Given the description of an element on the screen output the (x, y) to click on. 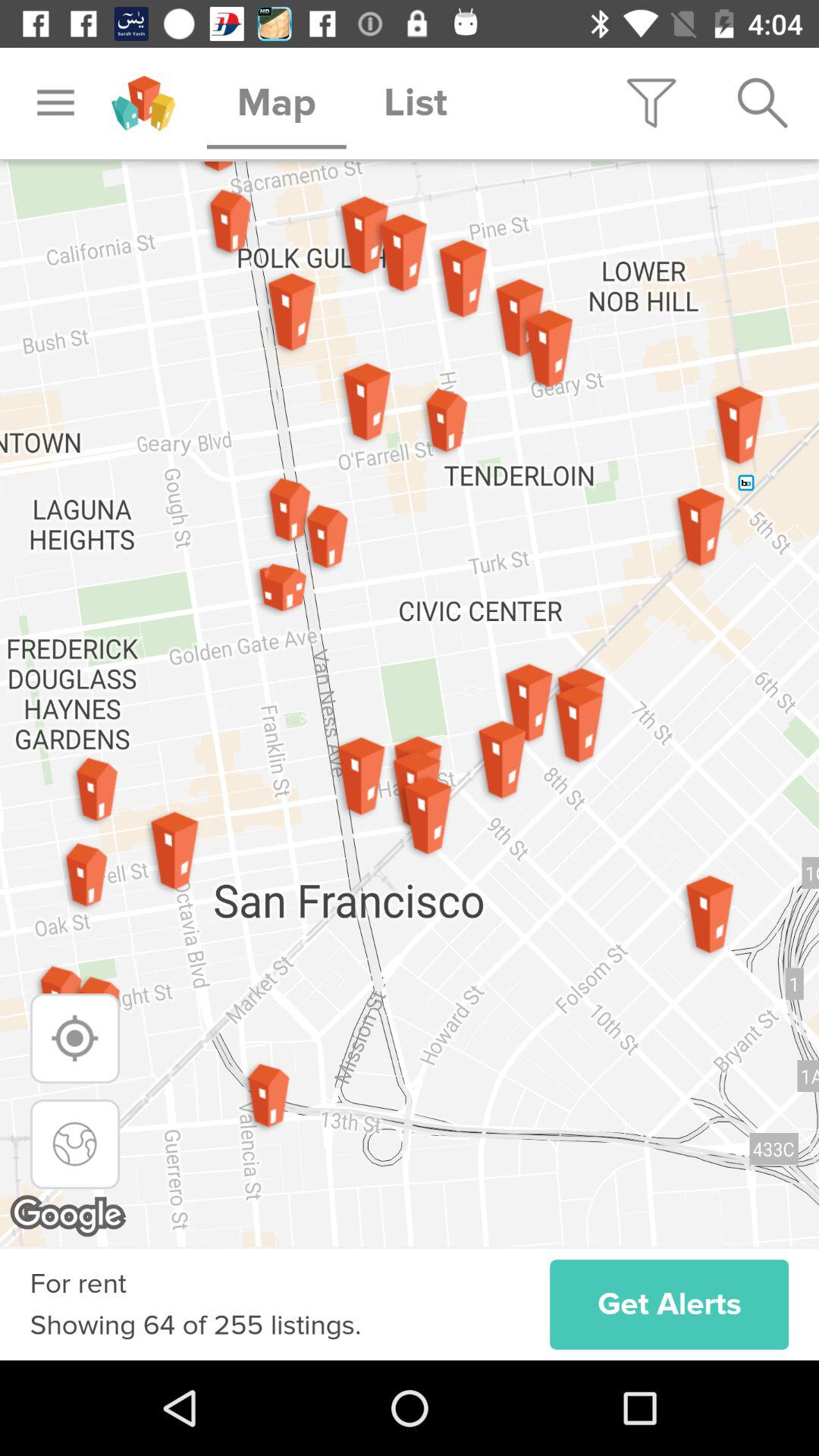
click the icon to the right of the showing 64 of item (668, 1304)
